Given the description of an element on the screen output the (x, y) to click on. 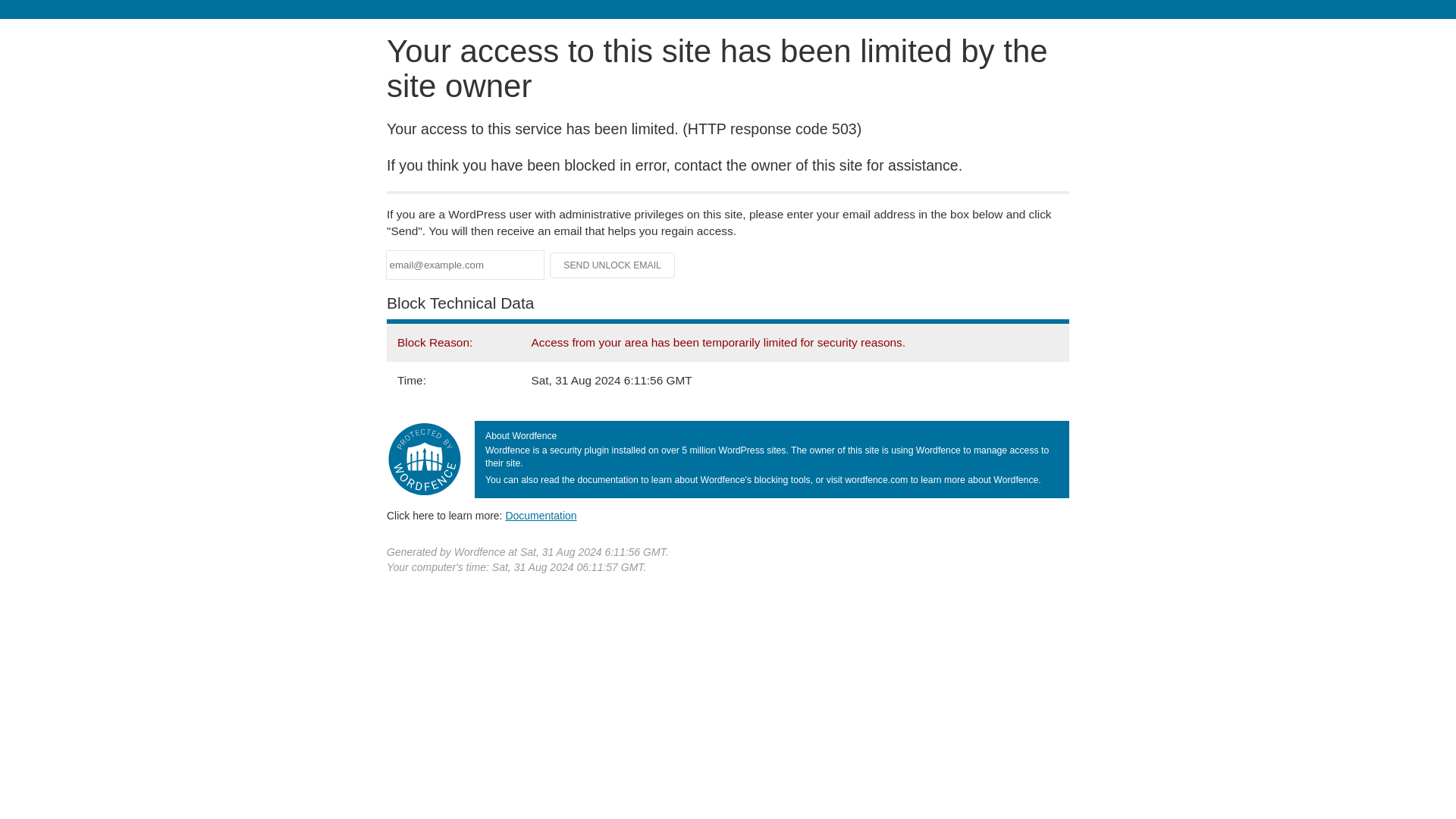
Send Unlock Email (612, 265)
Send Unlock Email (612, 265)
Documentation (540, 515)
